Given the description of an element on the screen output the (x, y) to click on. 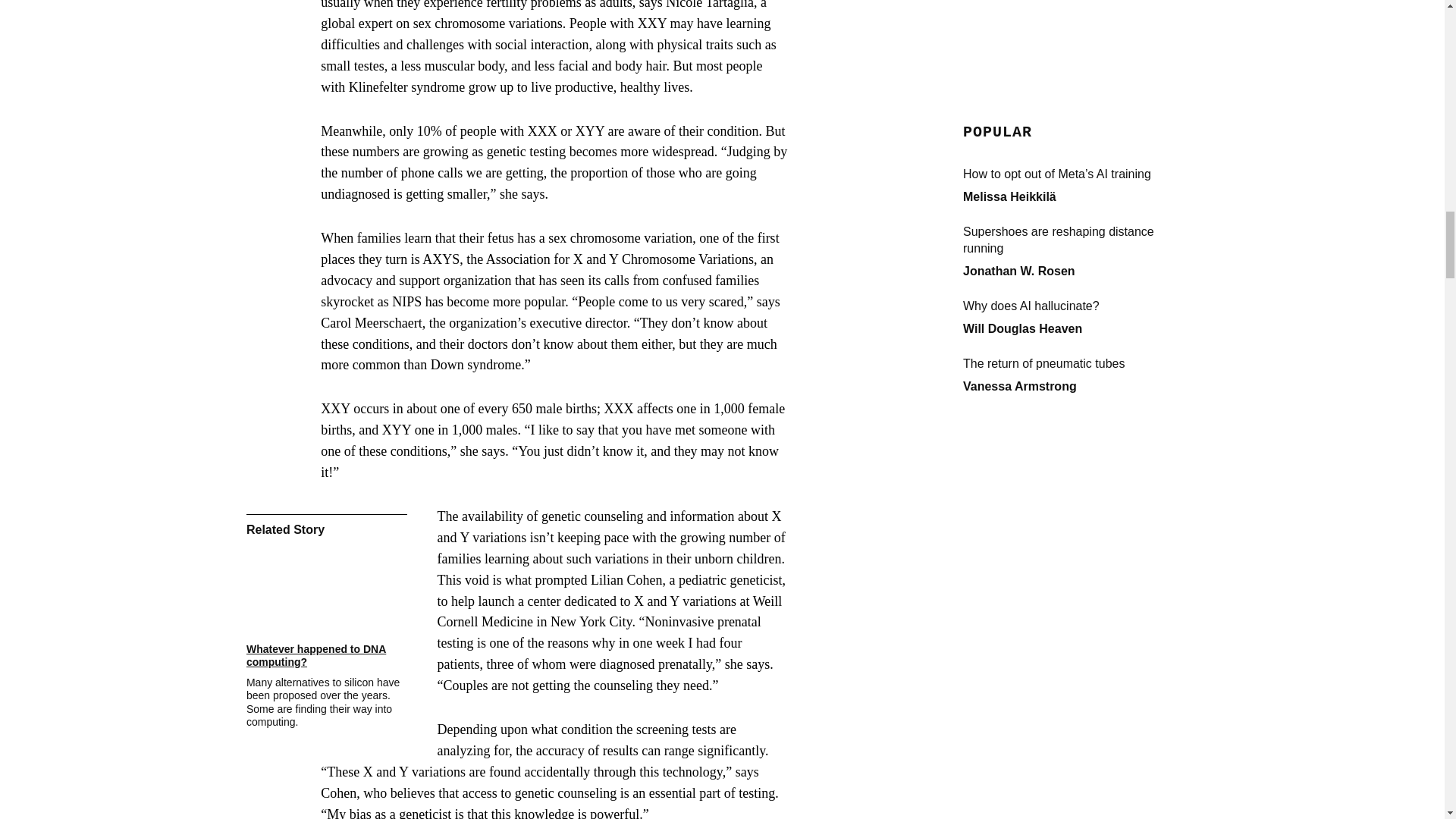
Whatever happened to DNA computing? (326, 655)
